Given the description of an element on the screen output the (x, y) to click on. 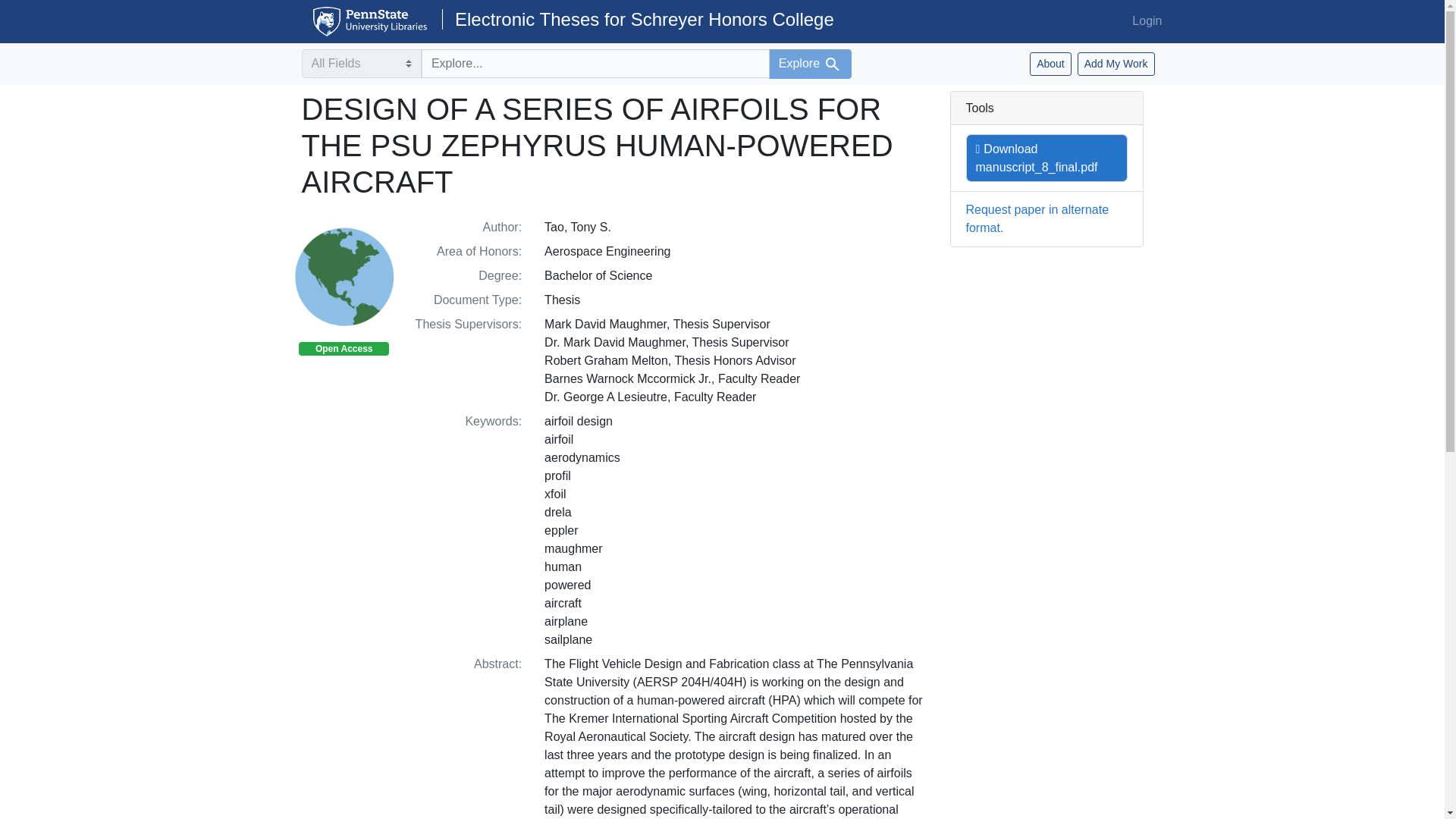
Targeted search options (361, 63)
Skip to search (37, 9)
Electronic Theses for Schreyer Honors College (638, 19)
Skip to main content (39, 9)
Search (832, 64)
About (1050, 64)
Login (1146, 20)
Explore Search (809, 63)
Request paper in alternate format. (1037, 218)
Add My Work (1115, 64)
